Given the description of an element on the screen output the (x, y) to click on. 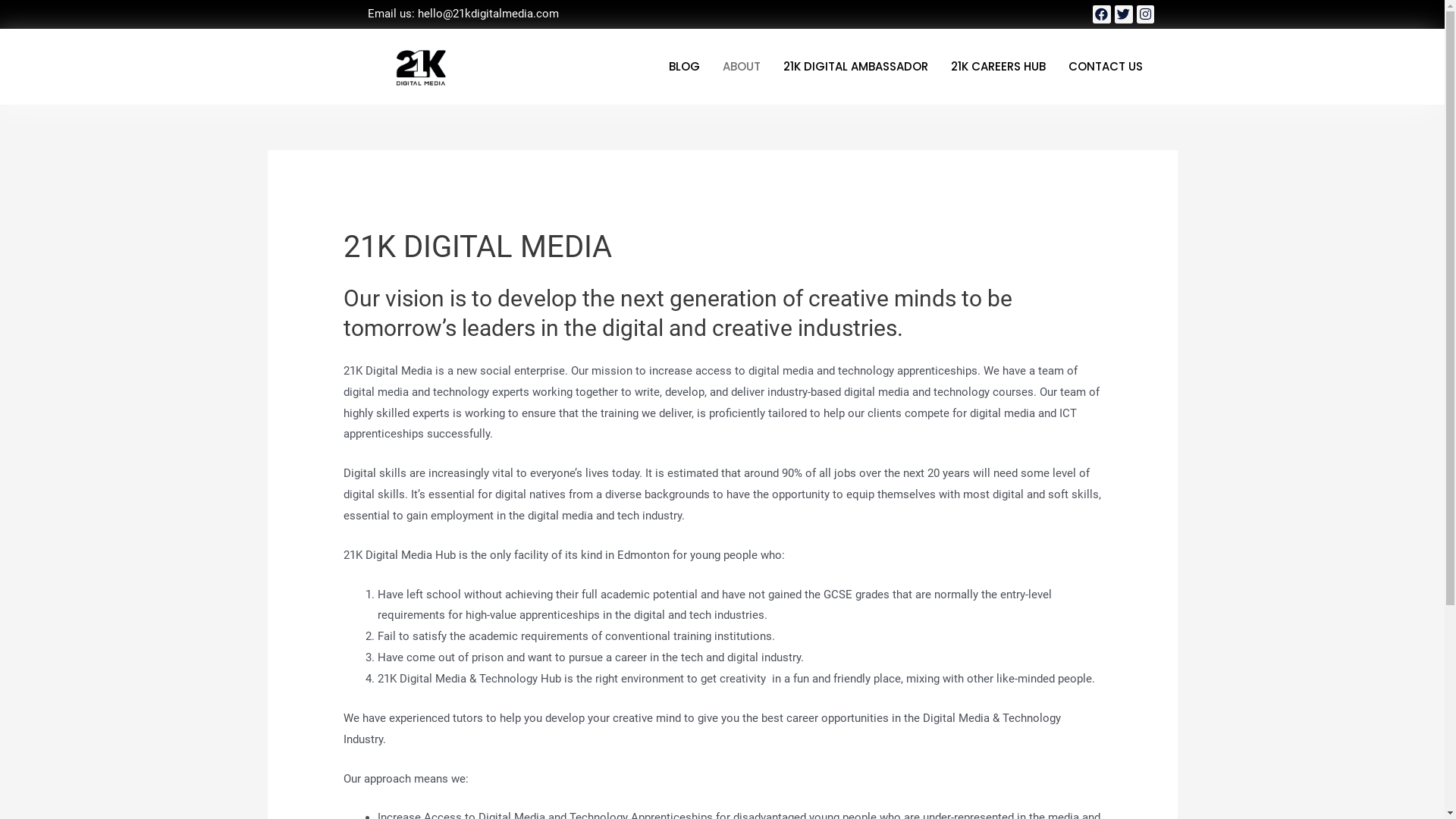
ABOUT Element type: text (741, 66)
BLOG Element type: text (684, 66)
21K DIGITAL AMBASSADOR Element type: text (855, 66)
21K CAREERS HUB Element type: text (998, 66)
CONTACT US Element type: text (1105, 66)
